Given the description of an element on the screen output the (x, y) to click on. 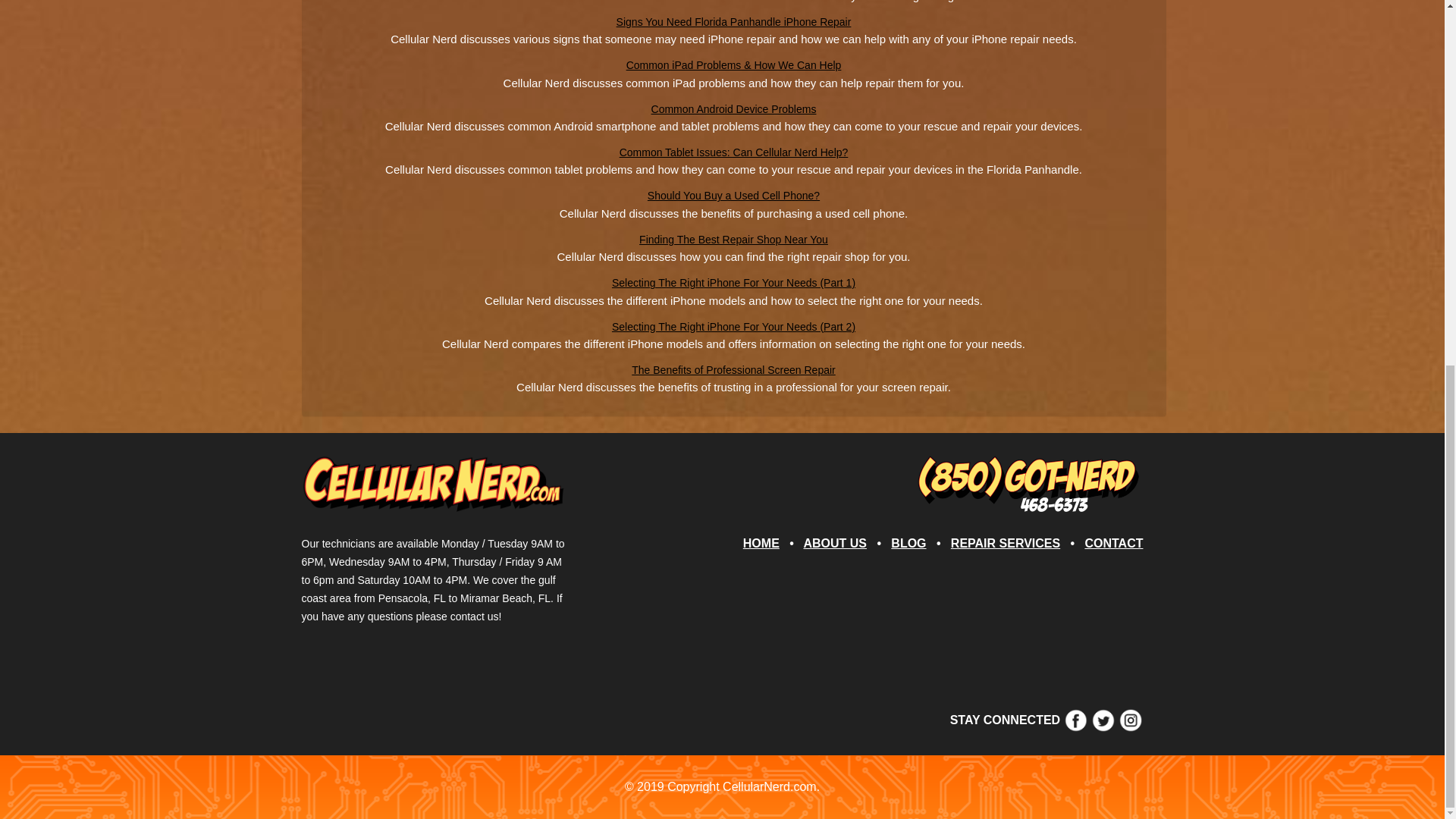
Finding The Best Repair Shop Near You (733, 239)
Common Tablet Issues: Can Cellular Nerd Help? (734, 152)
ABOUT US (834, 543)
The Benefits of Professional Screen Repair (732, 369)
Signs You Need Florida Panhandle iPhone Repair (733, 21)
REPAIR SERVICES (1004, 543)
BLOG (908, 543)
HOME (760, 543)
Common Android Device Problems (733, 109)
Should You Buy a Used Cell Phone? (733, 195)
